Given the description of an element on the screen output the (x, y) to click on. 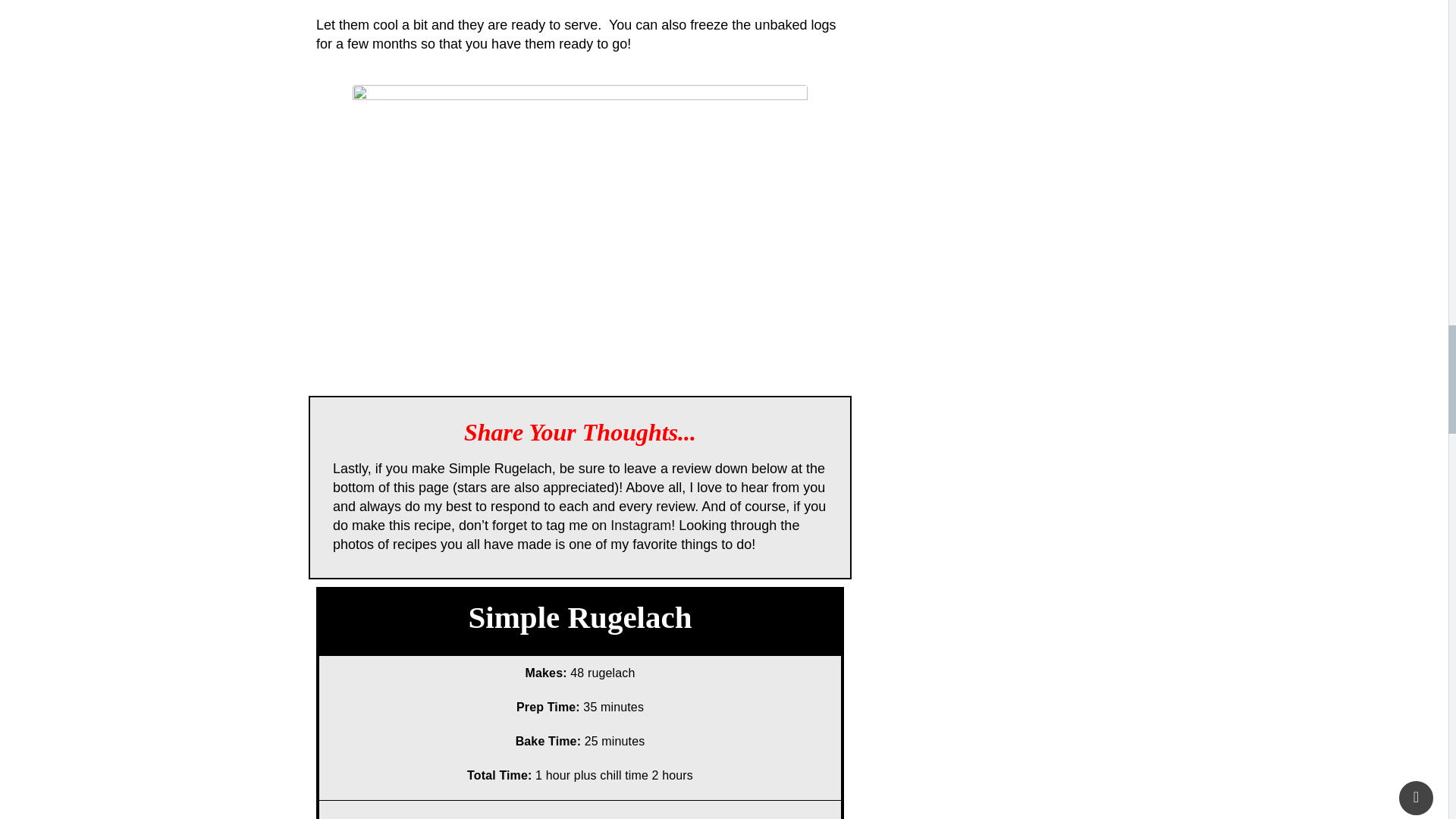
Instagram (640, 525)
